Given the description of an element on the screen output the (x, y) to click on. 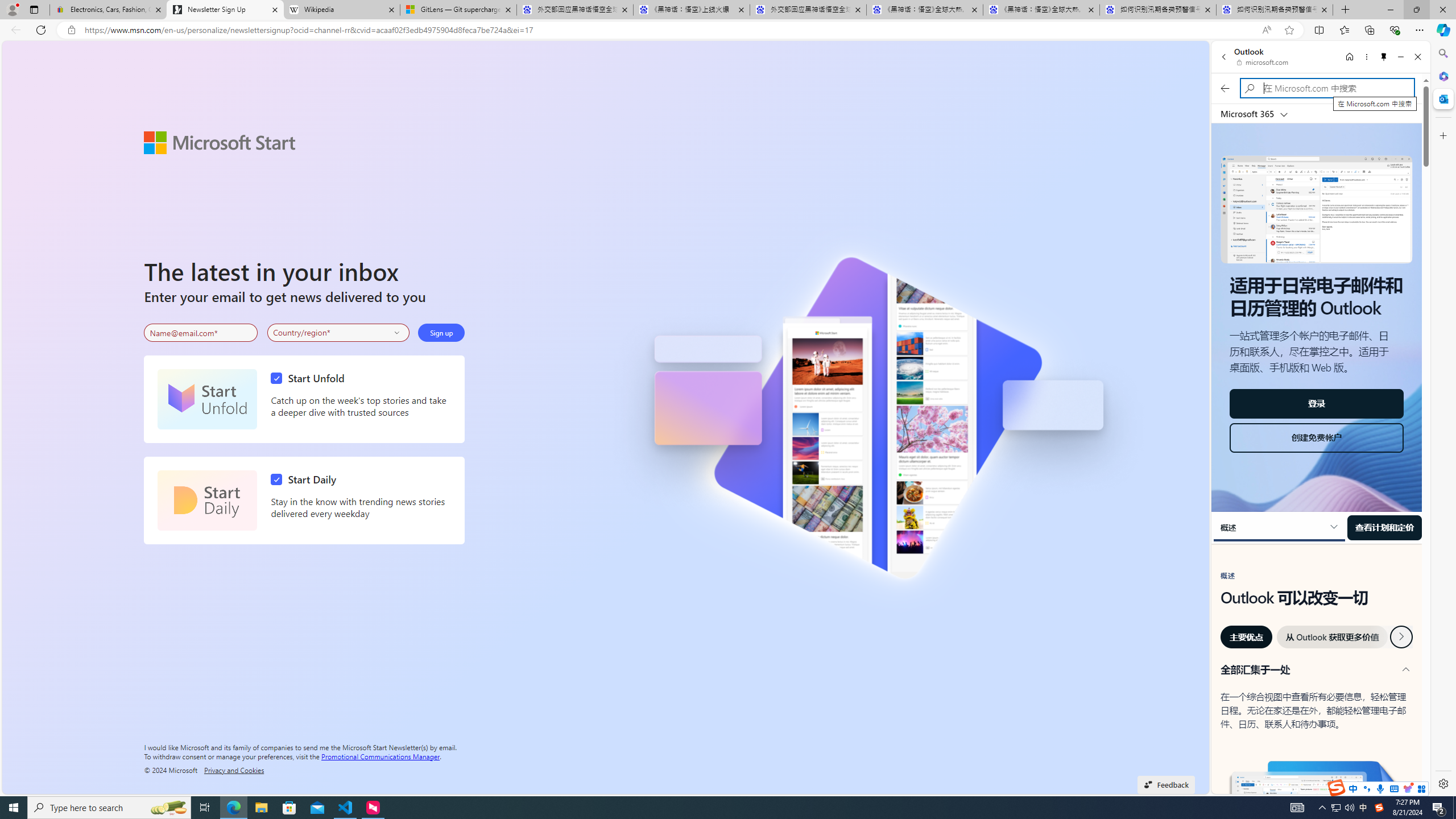
Newsletter Sign Up (224, 9)
Select your country (338, 332)
microsoft.com (1263, 61)
